Given the description of an element on the screen output the (x, y) to click on. 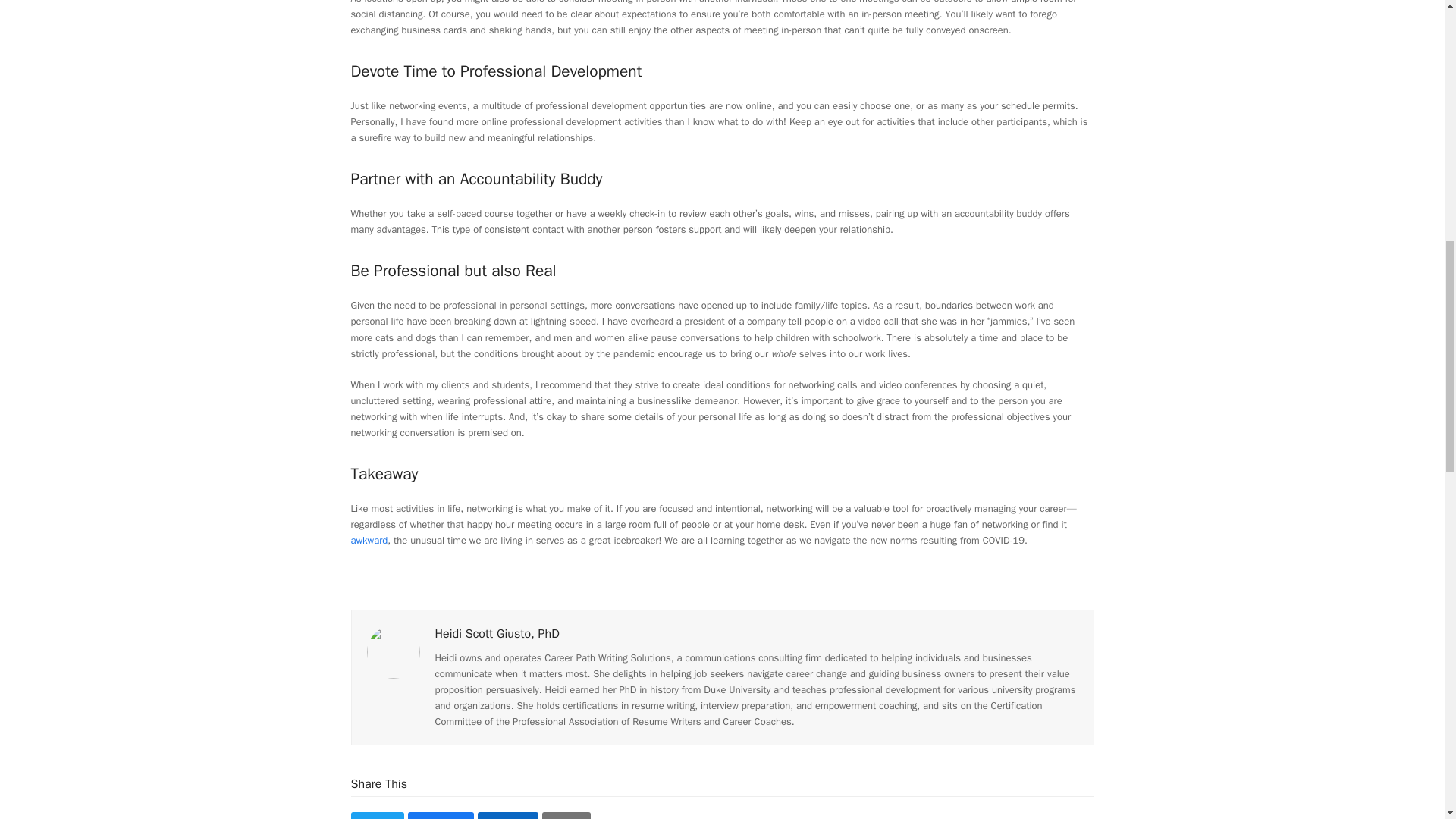
Visit Author Page (497, 633)
Visit Author Page (393, 650)
Email (566, 815)
LinkedIn (507, 815)
Twitter (376, 815)
Facebook (440, 815)
awkward (368, 540)
Heidi Scott Giusto, PhD (497, 633)
